Given the description of an element on the screen output the (x, y) to click on. 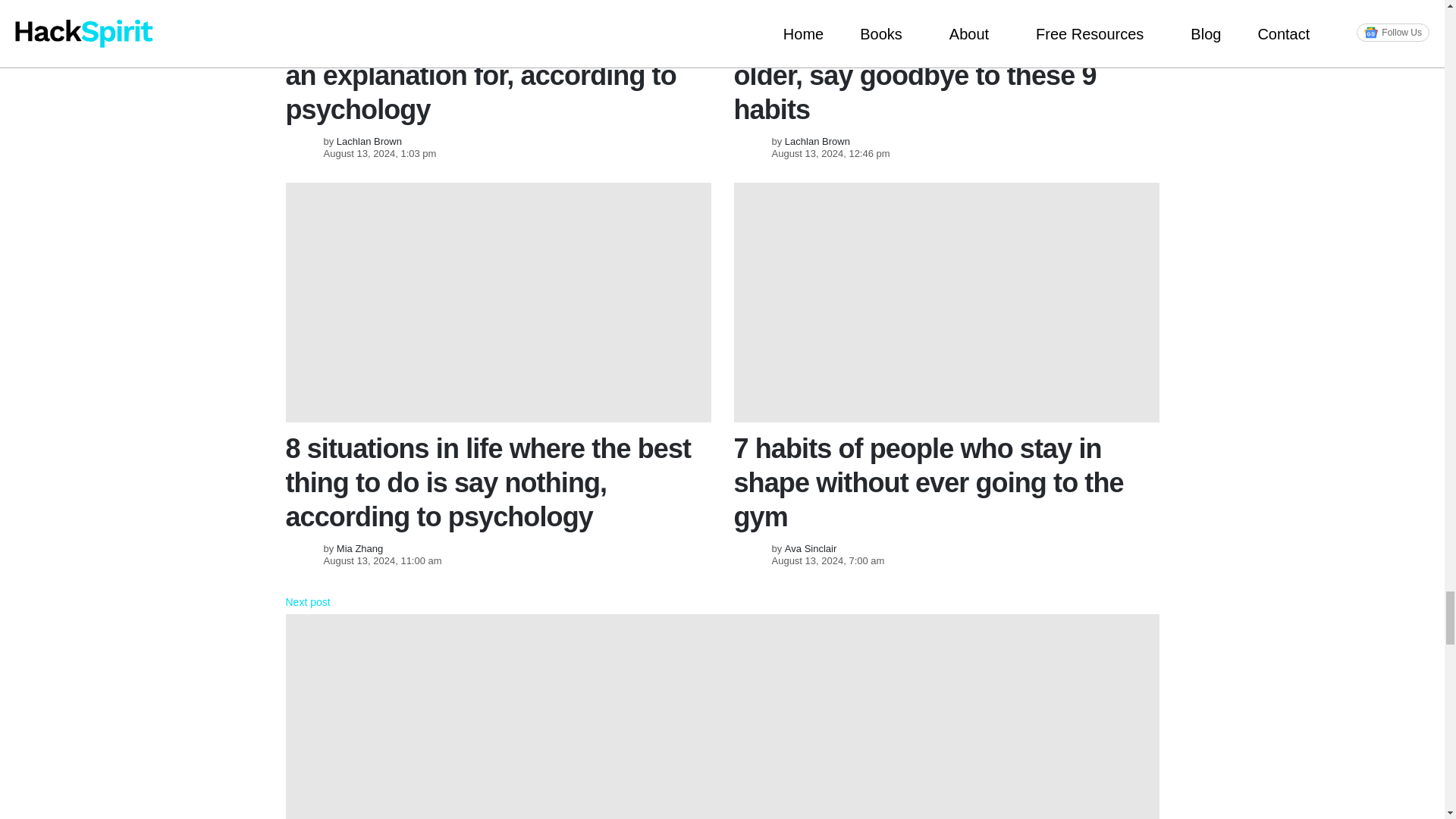
Posts by Mia Zhang (359, 548)
Posts by Lachlan Brown (368, 141)
Posts by Ava Sinclair (809, 548)
Posts by Lachlan Brown (817, 141)
